Given the description of an element on the screen output the (x, y) to click on. 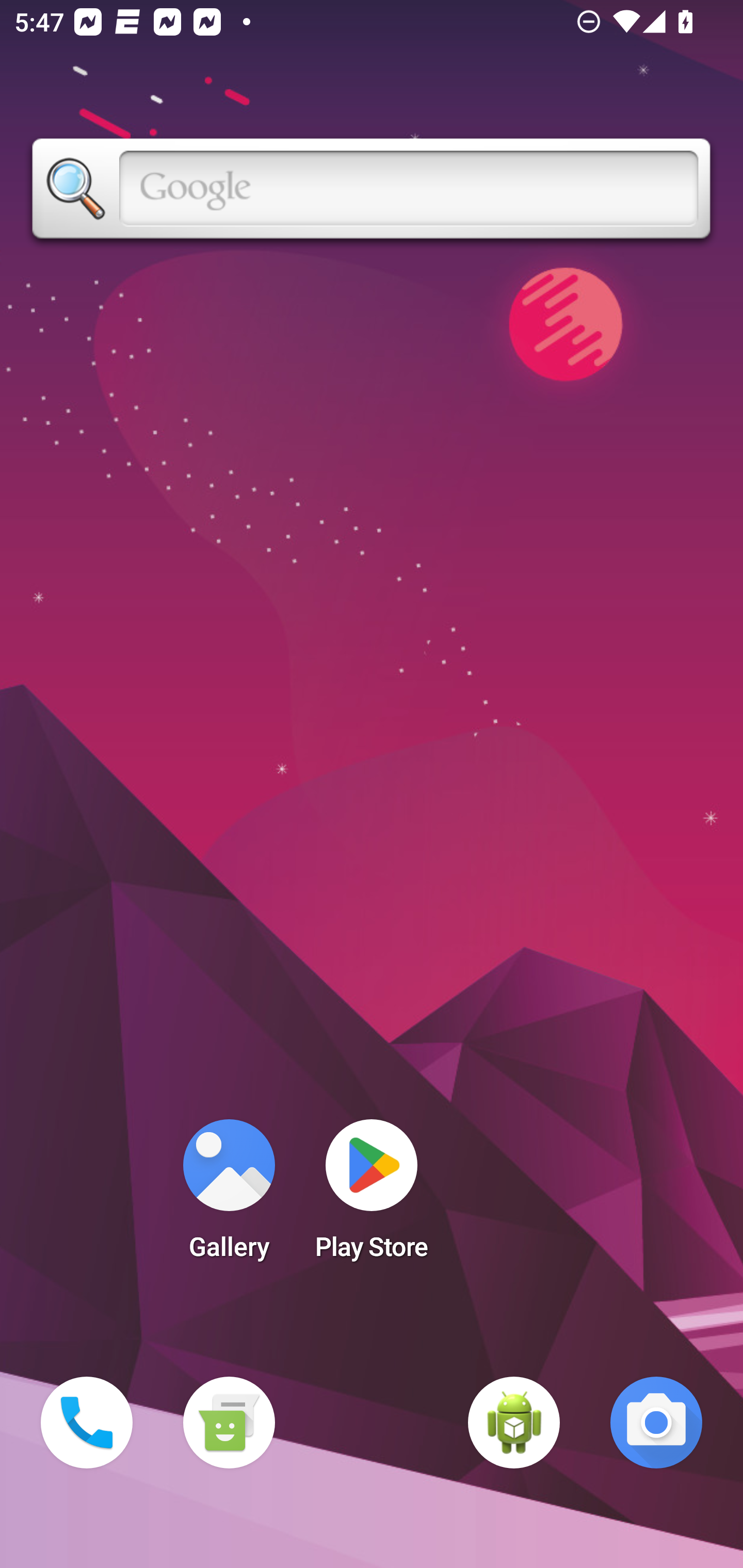
Gallery (228, 1195)
Play Store (371, 1195)
Phone (86, 1422)
Messaging (228, 1422)
WebView Browser Tester (513, 1422)
Camera (656, 1422)
